Given the description of an element on the screen output the (x, y) to click on. 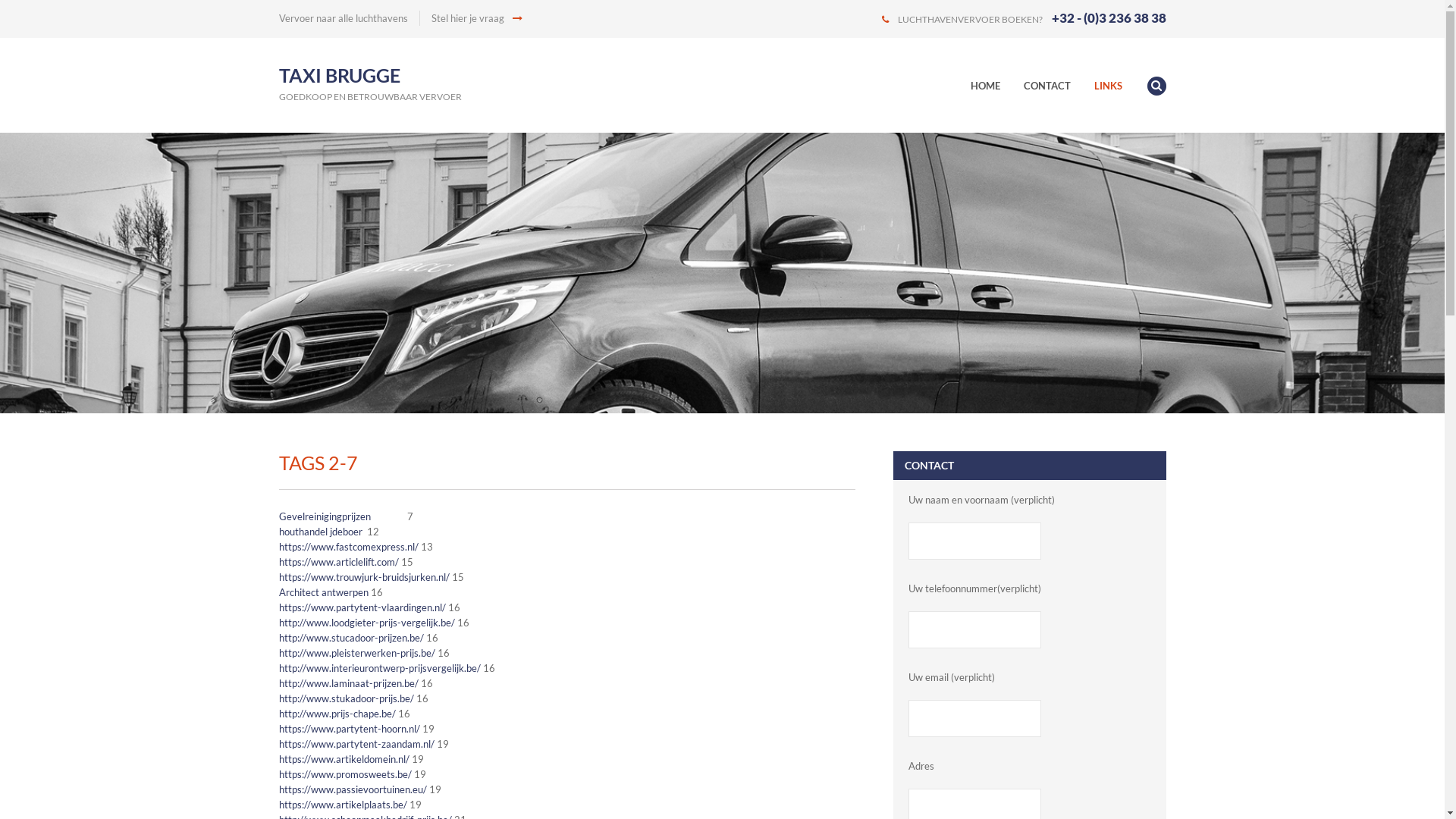
+32 - (0)3 236 38 38 Element type: text (1108, 17)
https://www.partytent-hoorn.nl/ Element type: text (349, 728)
http://www.loodgieter-prijs-vergelijk.be/ Element type: text (367, 622)
LINKS Element type: text (1117, 85)
Gevelreinigingprijzen Element type: text (324, 516)
http://www.laminaat-prijzen.be/ Element type: text (348, 683)
http://www.pleisterwerken-prijs.be/ Element type: text (357, 652)
https://www.partytent-vlaardingen.nl/ Element type: text (362, 607)
CONTACT Element type: text (1057, 85)
Architect antwerpen Element type: text (323, 592)
http://www.interieurontwerp-prijsvergelijk.be/ Element type: text (379, 668)
HOME Element type: text (995, 85)
https://www.passievoortuinen.eu/ Element type: text (352, 789)
https://www.promosweets.be/ Element type: text (345, 774)
houthandel jdeboer  Element type: text (321, 531)
https://www.partytent-zaandam.nl/ Element type: text (356, 743)
http://www.prijs-chape.be/ Element type: text (337, 713)
Vervoer naar alle luchthavens Element type: text (343, 18)
https://www.artikeldomein.nl/ Element type: text (344, 759)
http://www.stucadoor-prijzen.be/ Element type: text (351, 637)
TAXI BRUGGE
GOEDKOOP EN BETROUWBAAR VERVOER Element type: text (370, 84)
https://www.trouwjurk-bruidsjurken.nl/ Element type: text (364, 577)
https://www.articlelift.com/ Element type: text (338, 561)
https://www.fastcomexpress.nl/ Element type: text (348, 546)
http://www.stukadoor-prijs.be/ Element type: text (346, 698)
Stel hier je vraag Element type: text (475, 18)
https://www.artikelplaats.be/ Element type: text (343, 804)
